Given the description of an element on the screen output the (x, y) to click on. 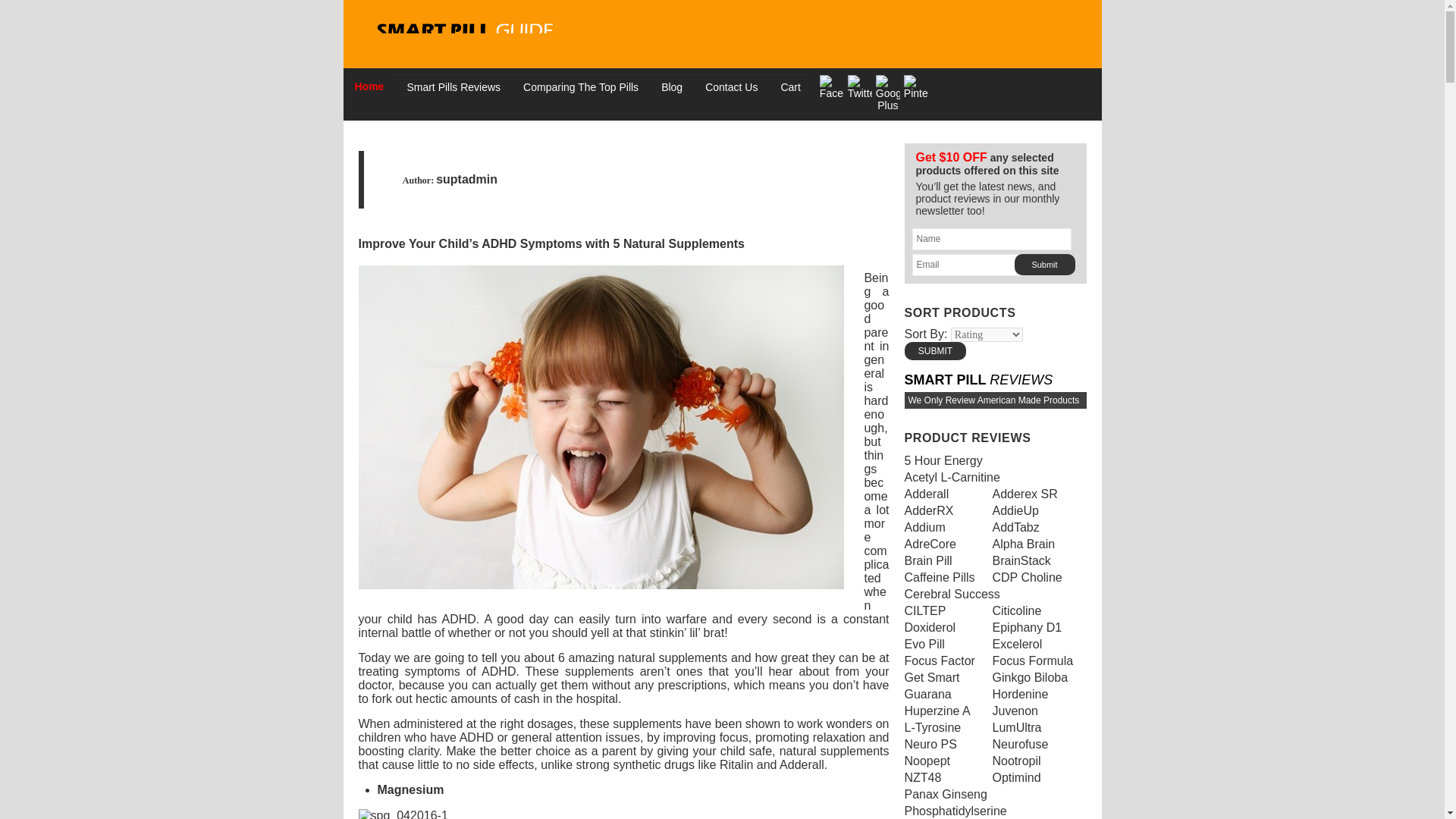
 Submit  (935, 351)
Home (369, 86)
Smart Pill Guide (467, 37)
Smart Pills Reviews (453, 87)
